Given the description of an element on the screen output the (x, y) to click on. 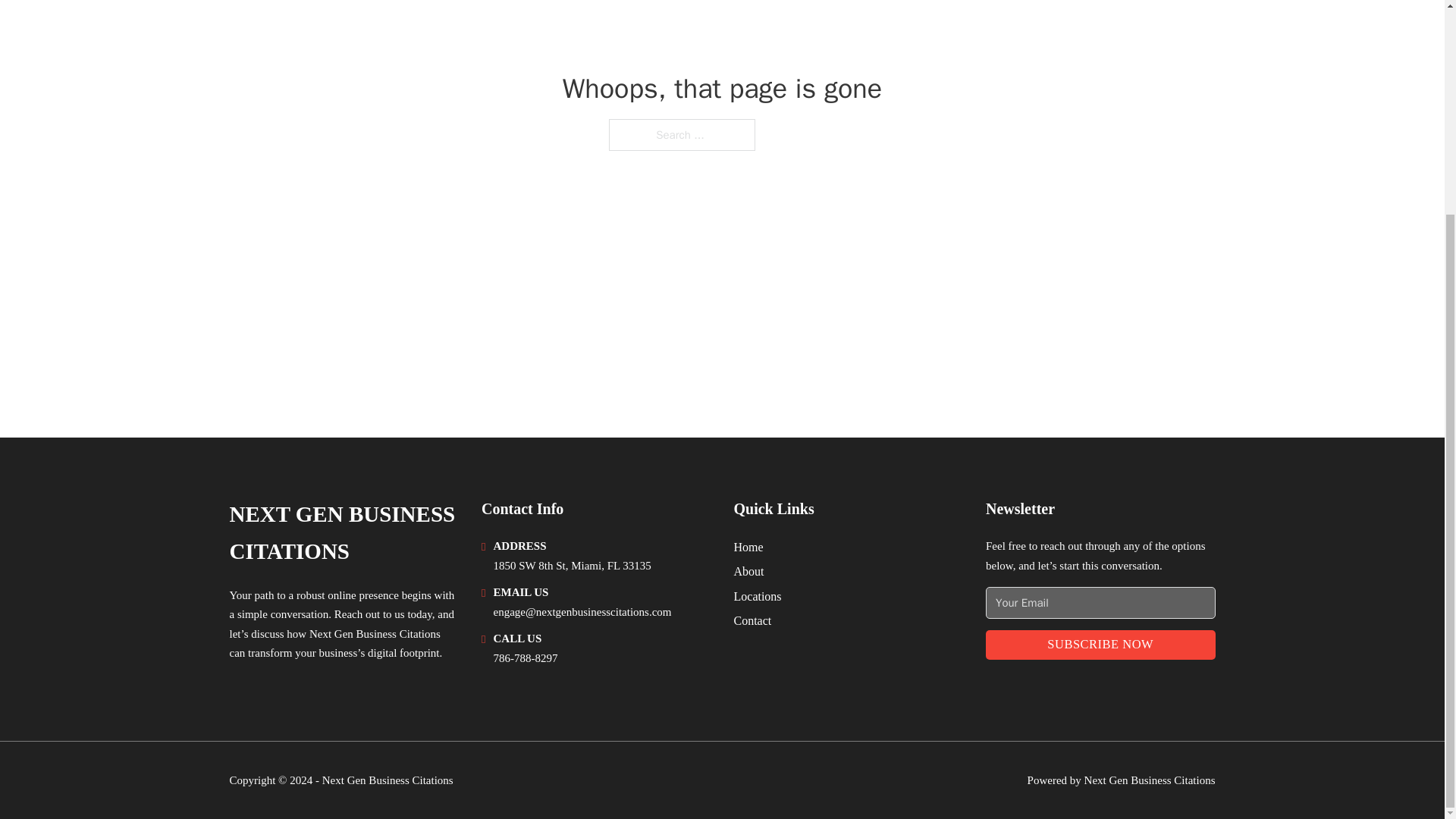
Contact (752, 620)
NEXT GEN BUSINESS CITATIONS (343, 533)
Locations (757, 596)
About (748, 571)
786-788-8297 (525, 657)
Home (747, 547)
SUBSCRIBE NOW (1100, 644)
